Given the description of an element on the screen output the (x, y) to click on. 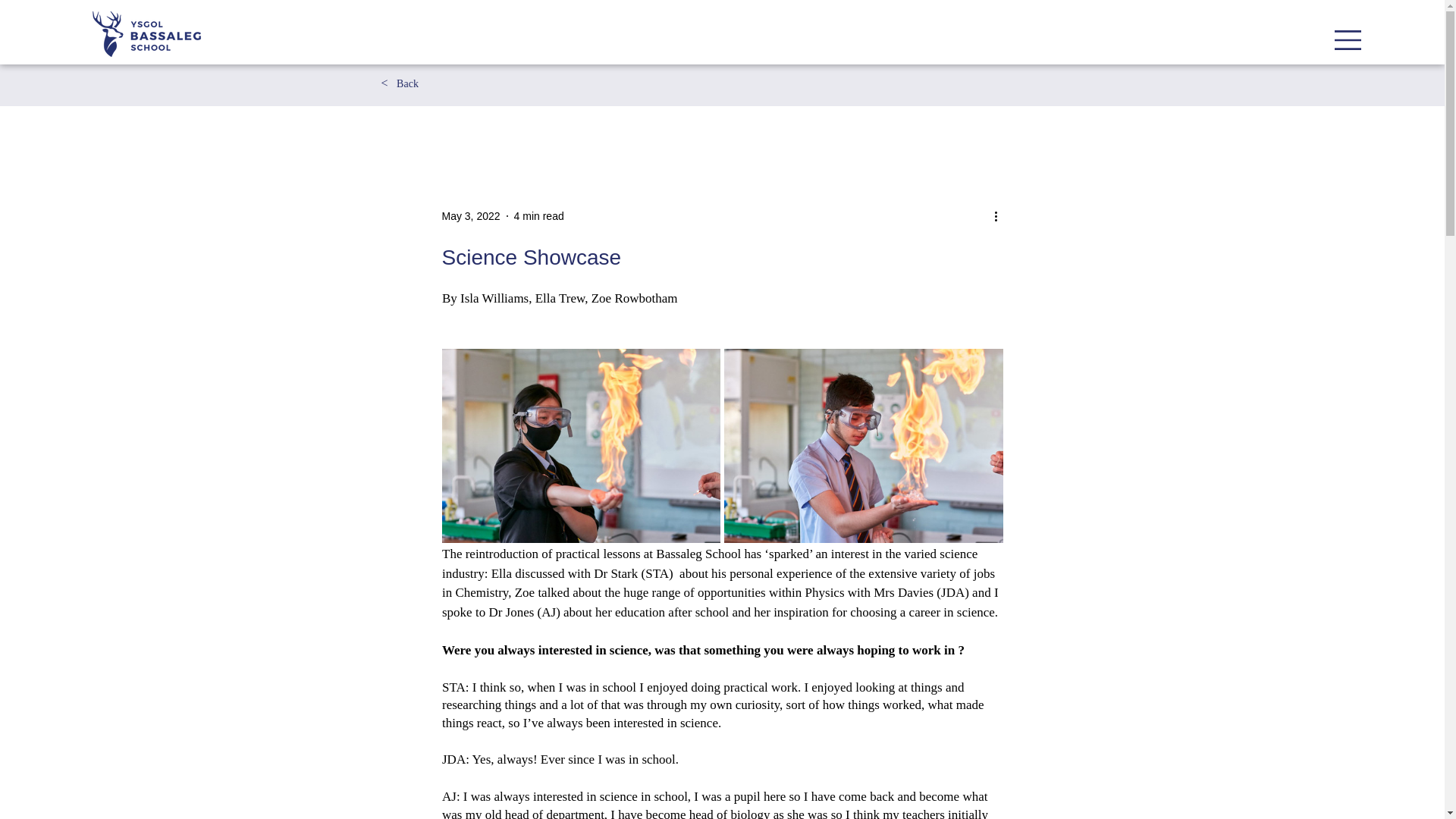
4 min read (538, 215)
May 3, 2022 (470, 215)
Back (408, 83)
